Given the description of an element on the screen output the (x, y) to click on. 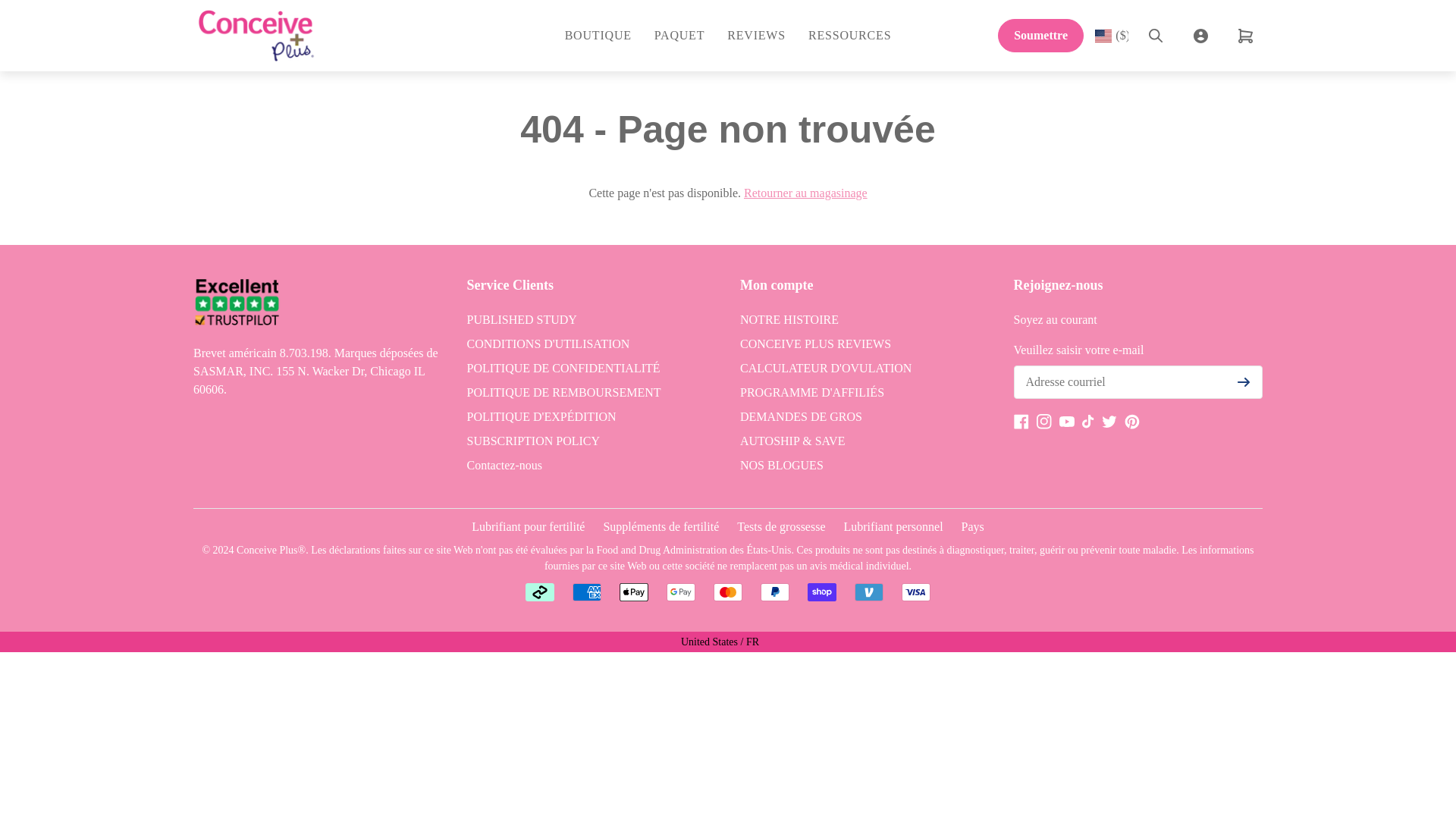
REVIEWS (756, 35)
PAQUET (678, 35)
Soumettre (1040, 35)
Go to account page (1201, 35)
